Given the description of an element on the screen output the (x, y) to click on. 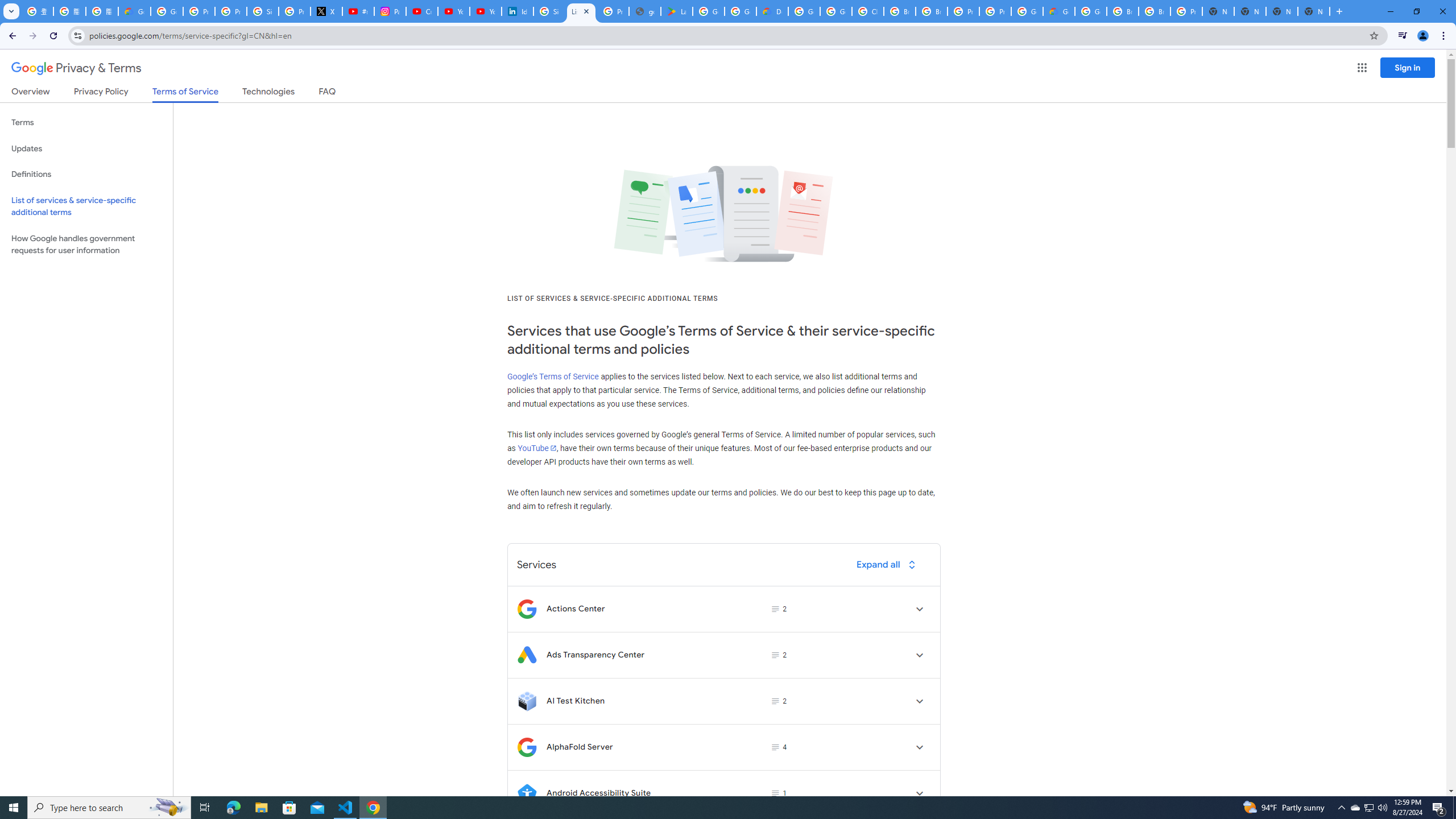
Sign in - Google Accounts (262, 11)
Google Cloud Platform (1027, 11)
Browse Chrome as a guest - Computer - Google Chrome Help (899, 11)
YouTube (536, 447)
Google Cloud Privacy Notice (134, 11)
Logo for Ads Transparency Center (526, 654)
